Given the description of an element on the screen output the (x, y) to click on. 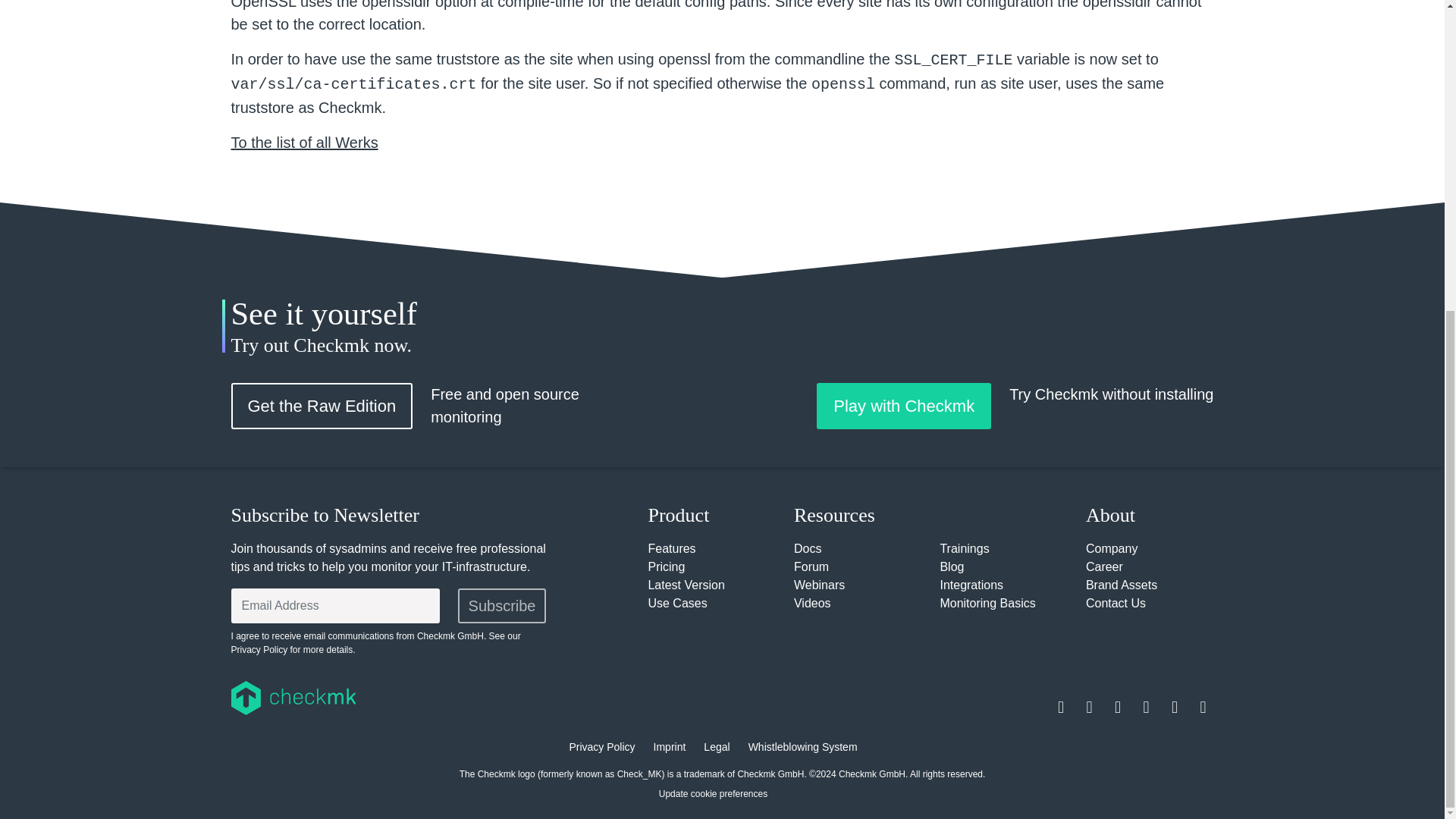
Checkmk (380, 697)
